Given the description of an element on the screen output the (x, y) to click on. 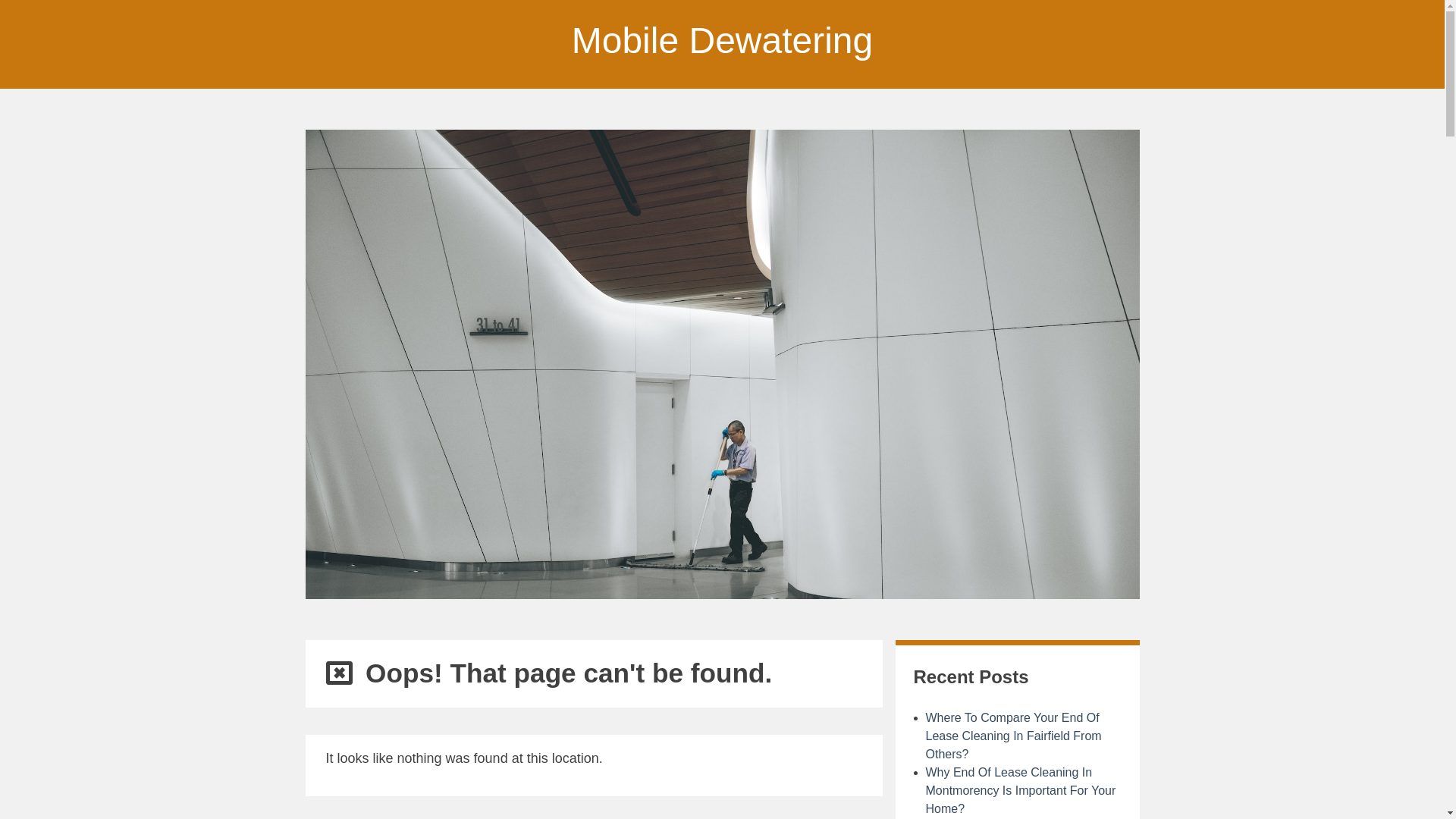
Mobile Dewatering Element type: text (722, 40)
